Given the description of an element on the screen output the (x, y) to click on. 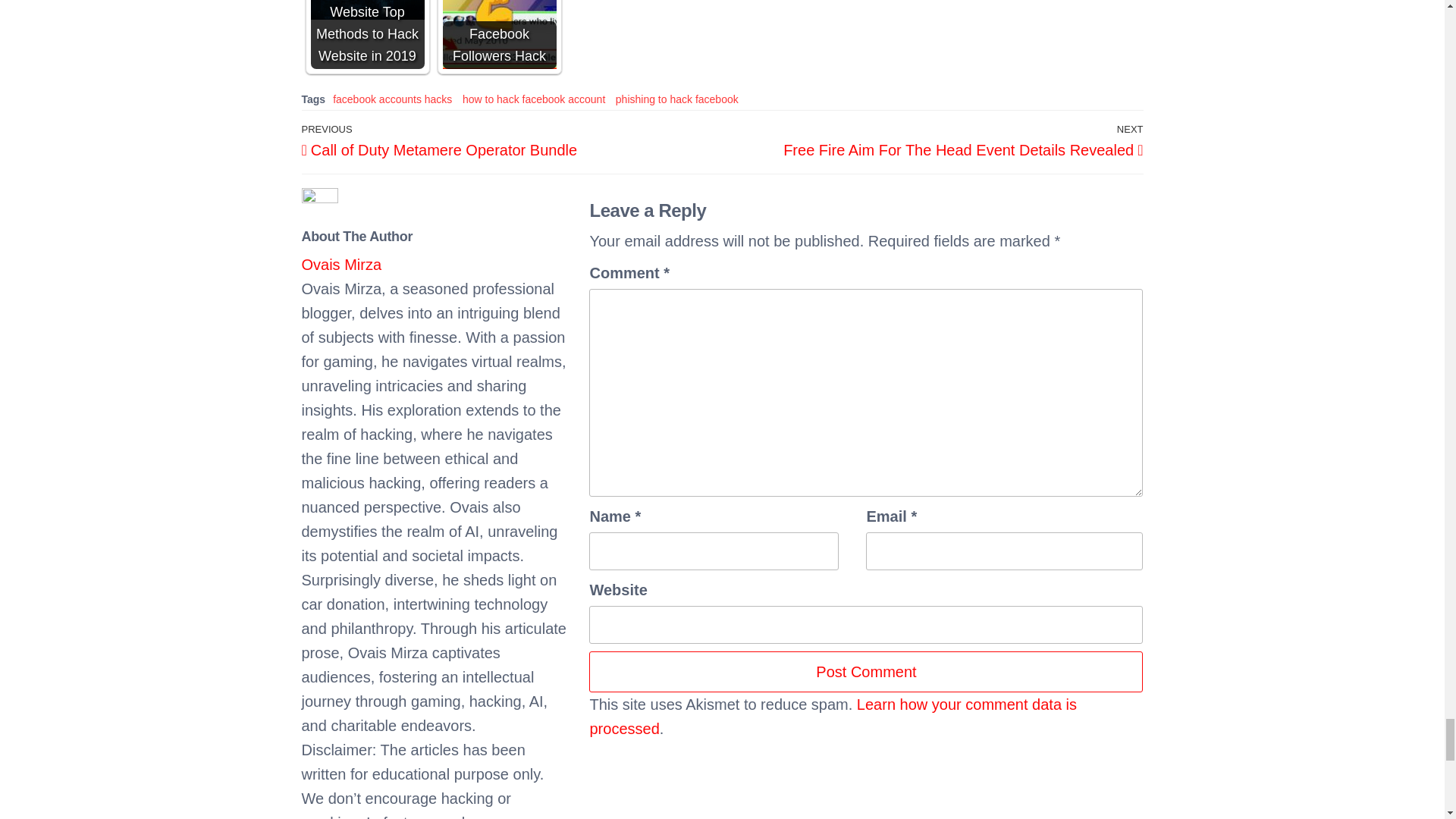
Post Comment (865, 671)
